Given the description of an element on the screen output the (x, y) to click on. 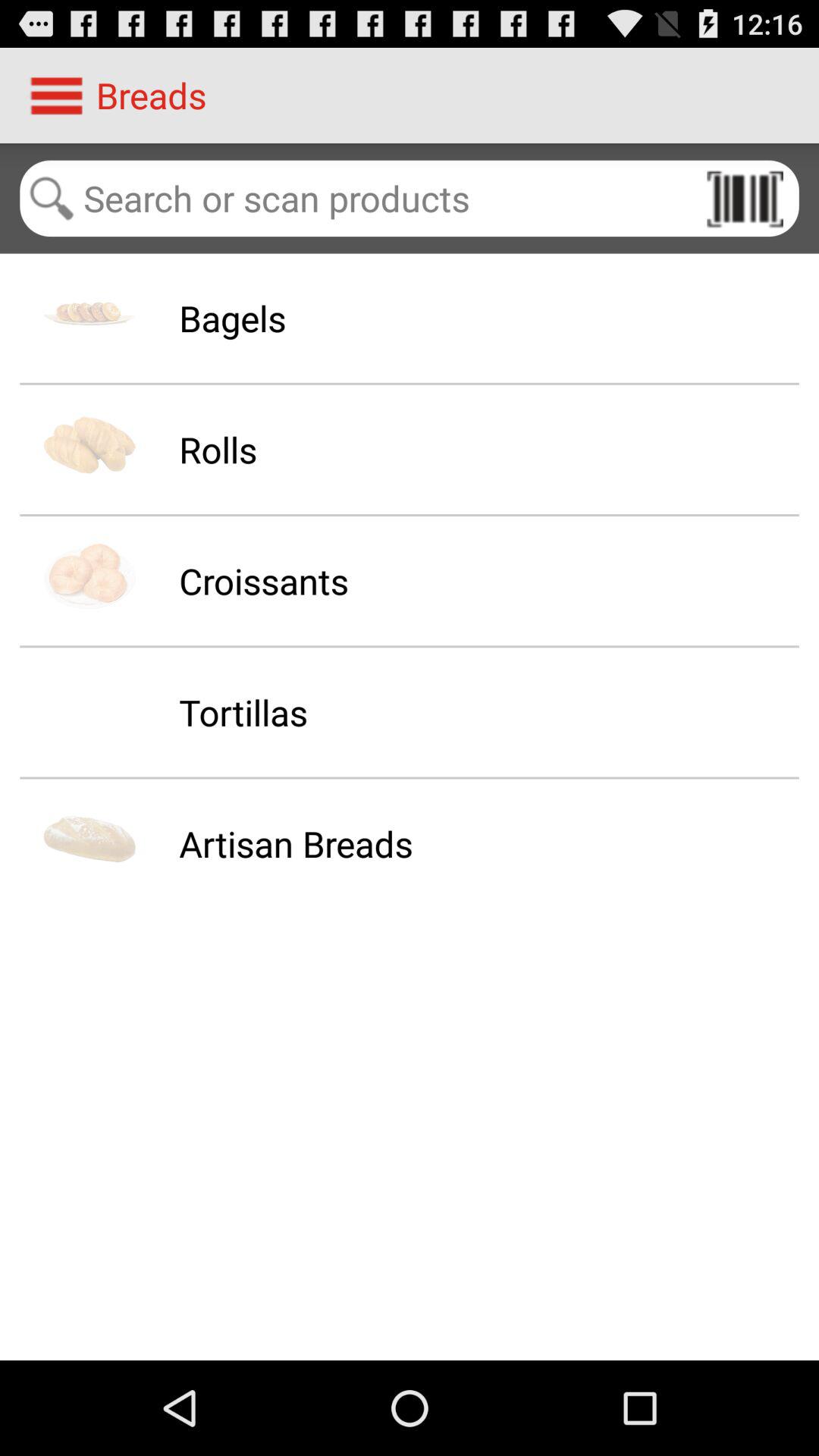
press the app below the bagels (218, 449)
